Given the description of an element on the screen output the (x, y) to click on. 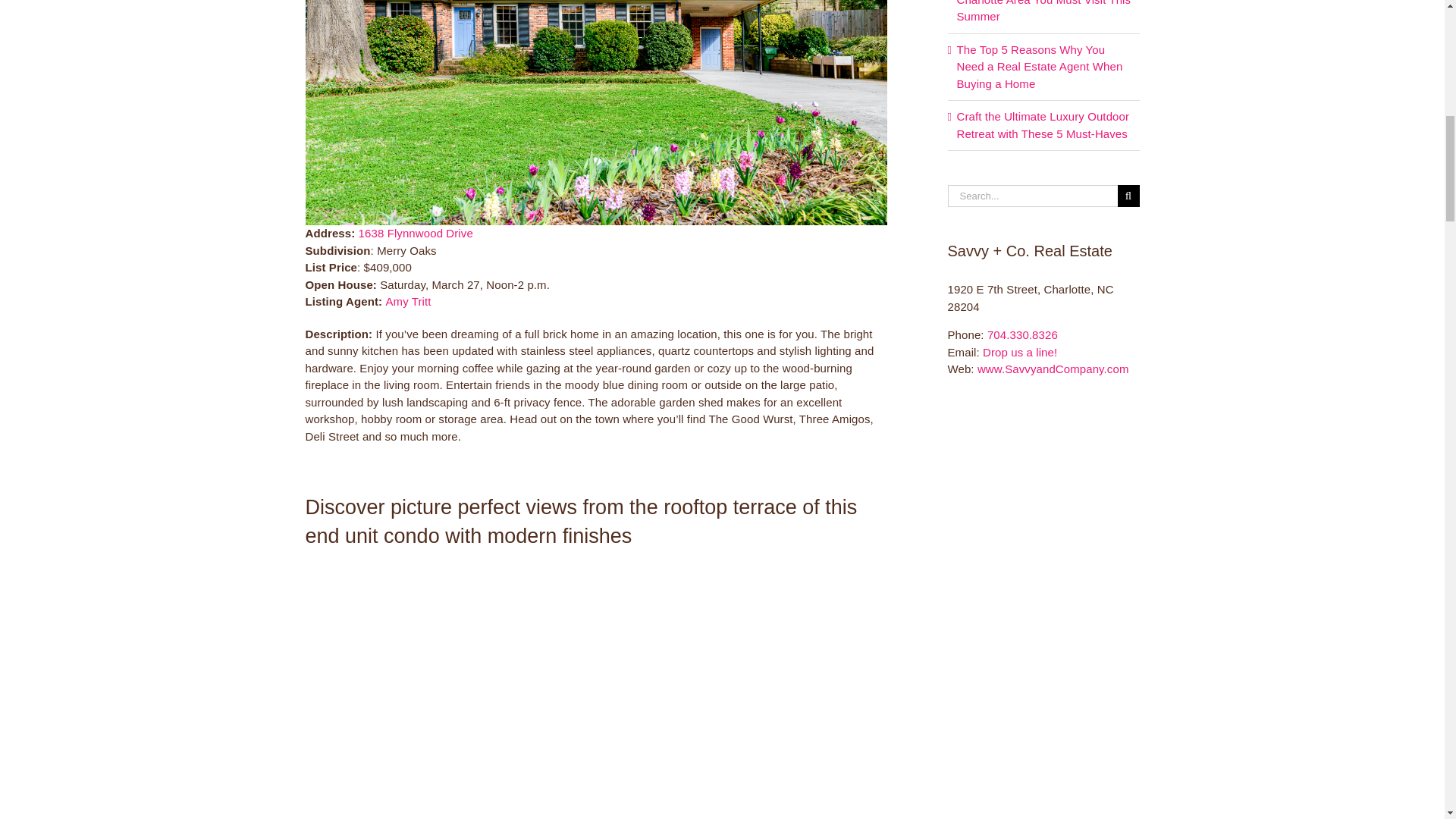
1638 Flynnwood Drive (415, 232)
Amy Tritt (407, 300)
